Given the description of an element on the screen output the (x, y) to click on. 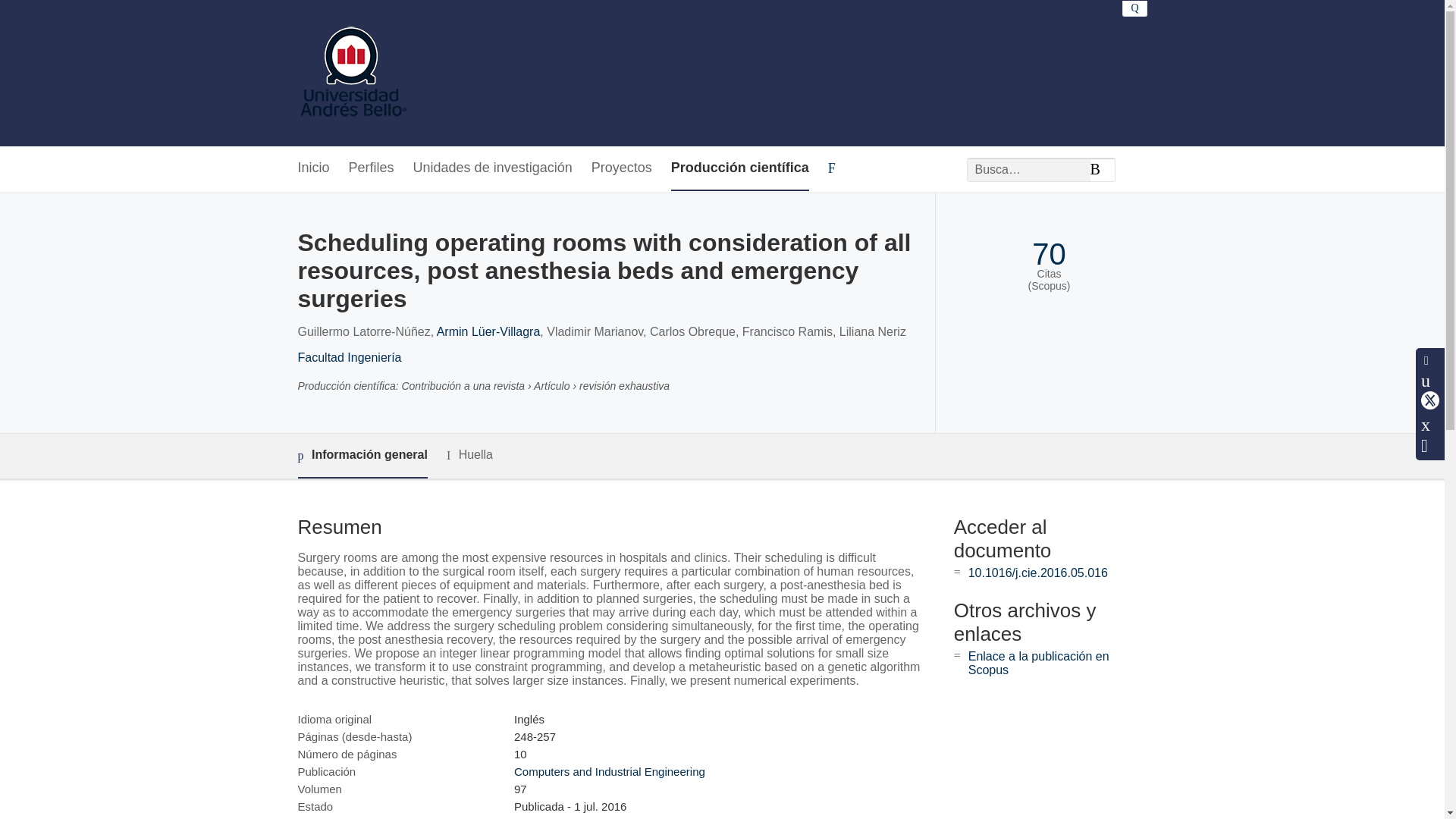
70 (1048, 253)
Huella (469, 455)
Perfiles (371, 168)
Proyectos (621, 168)
Computers and Industrial Engineering (608, 771)
